Given the description of an element on the screen output the (x, y) to click on. 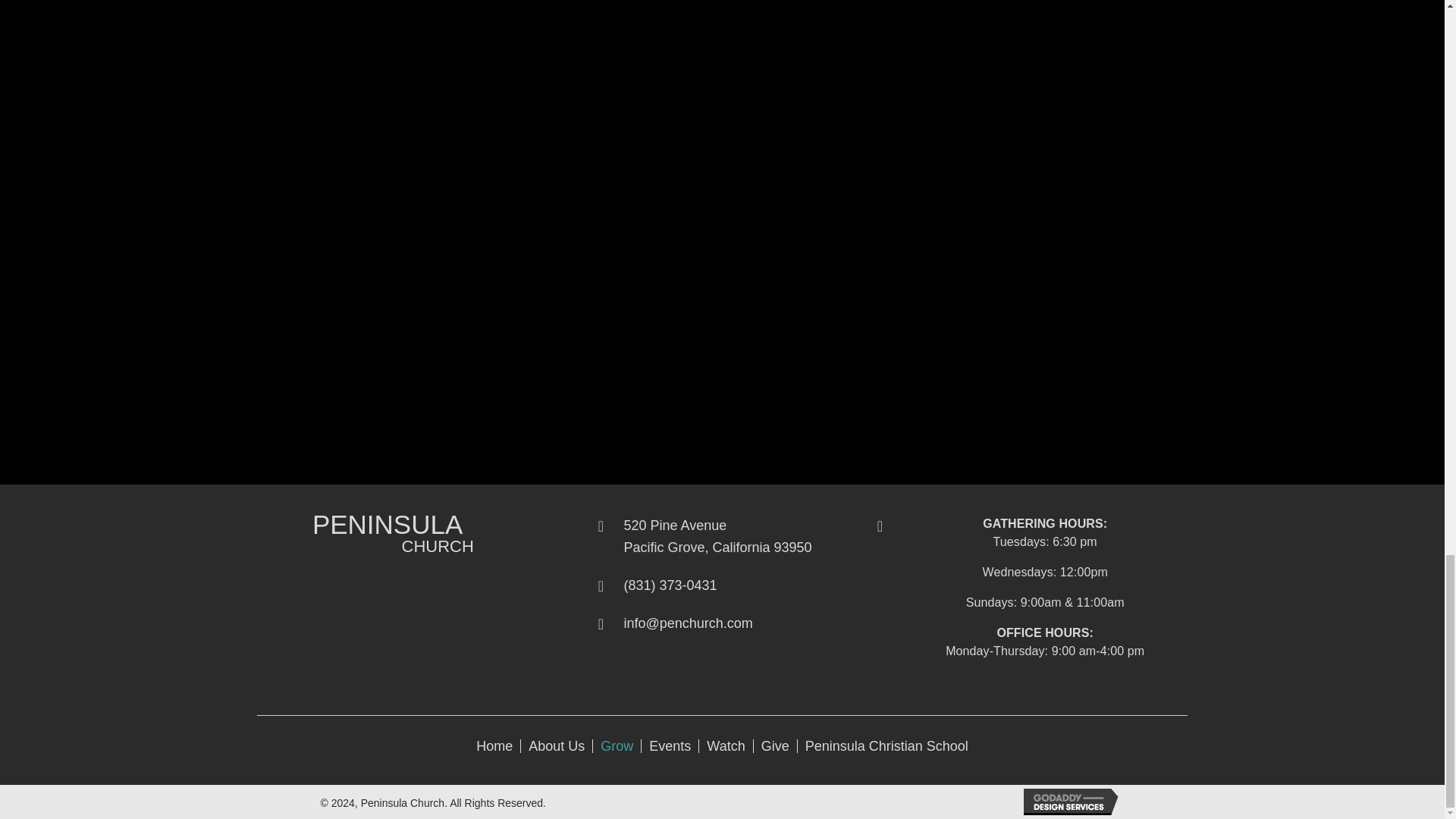
Untitled design-31 (277, 532)
